Given the description of an element on the screen output the (x, y) to click on. 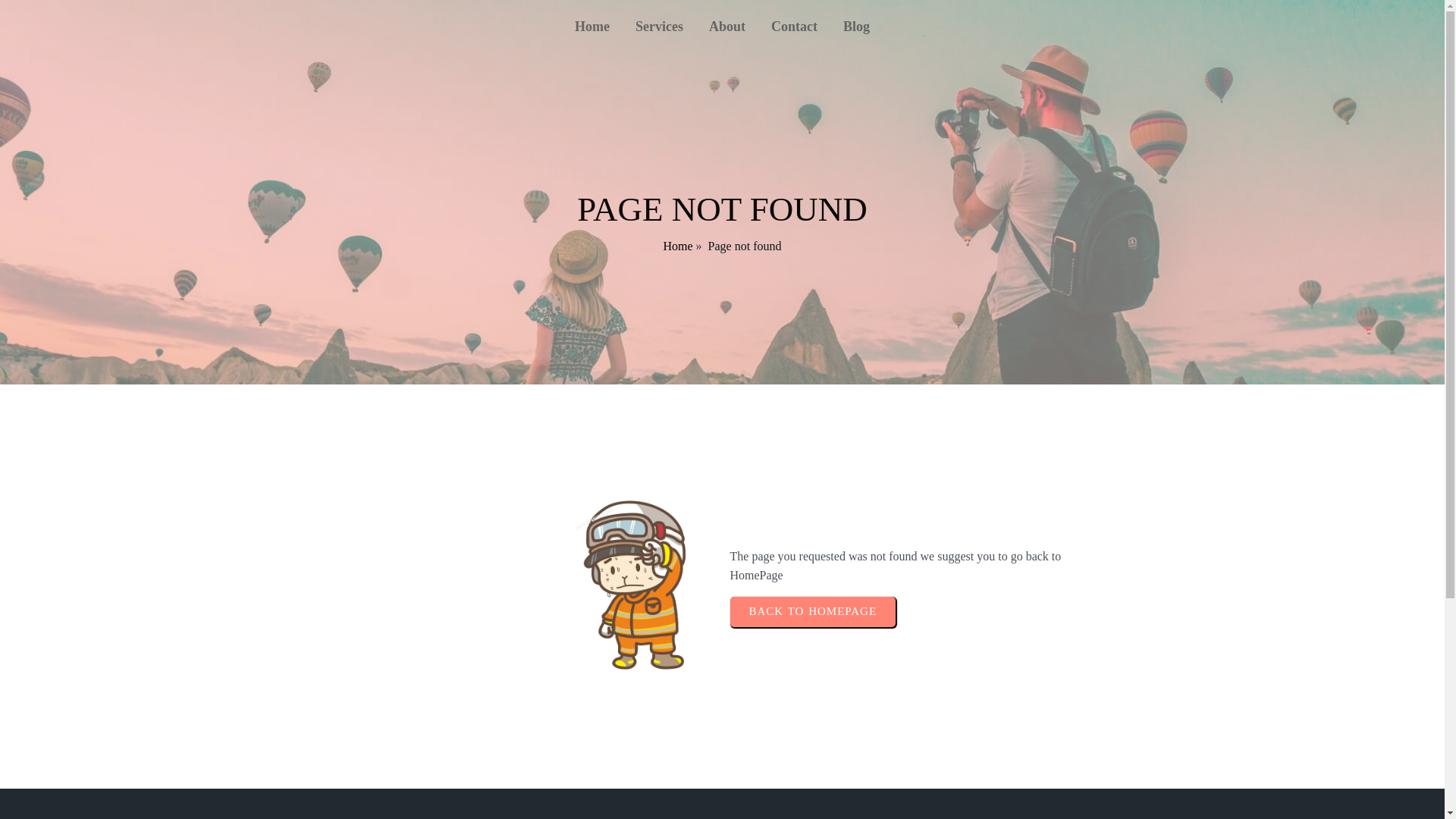
Home (592, 26)
Services (659, 26)
Home (677, 245)
Blog (855, 26)
Contact (794, 26)
About (727, 26)
BACK TO HOMEPAGE (812, 612)
